Given the description of an element on the screen output the (x, y) to click on. 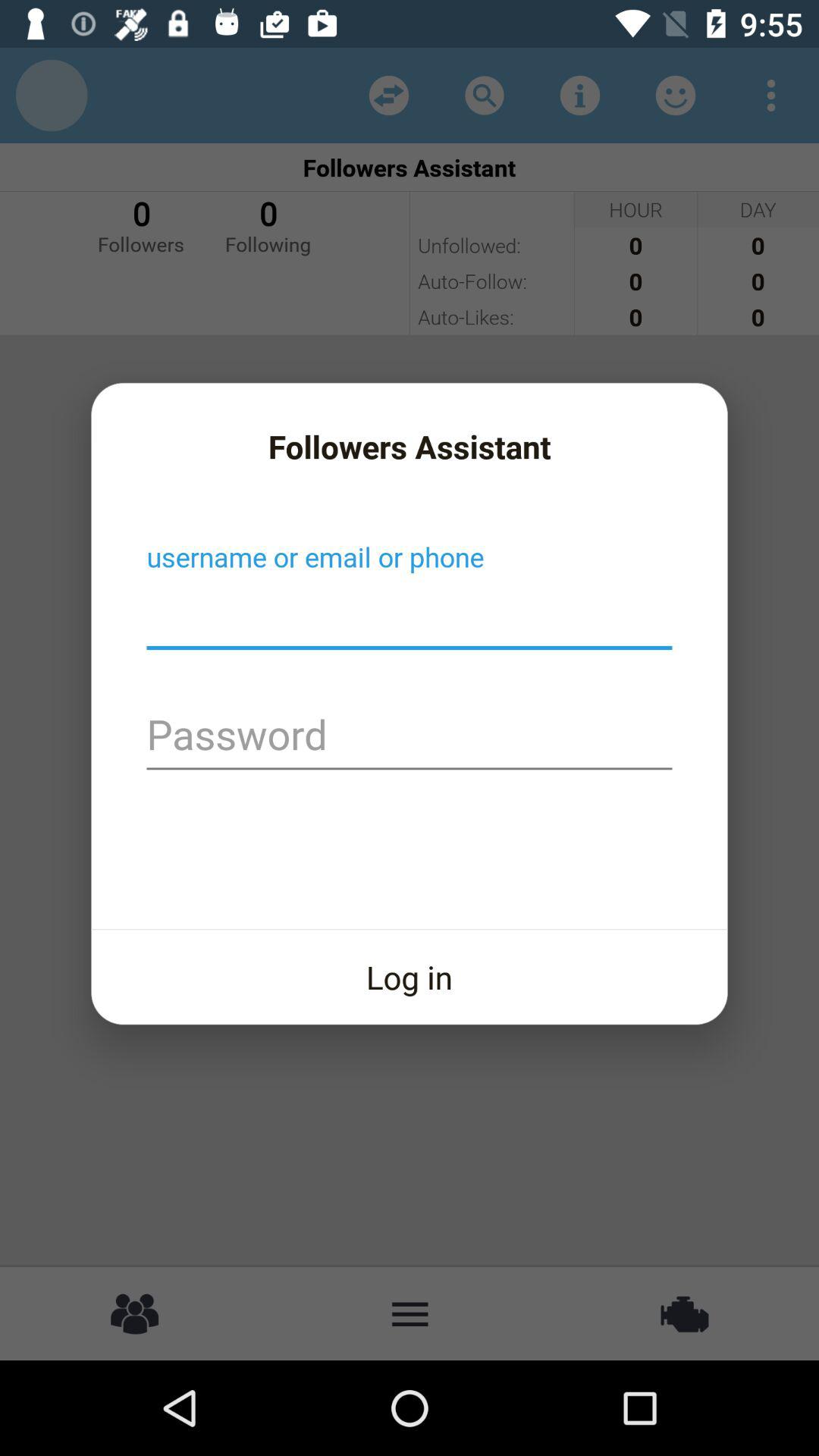
given to the bassword (409, 736)
